Given the description of an element on the screen output the (x, y) to click on. 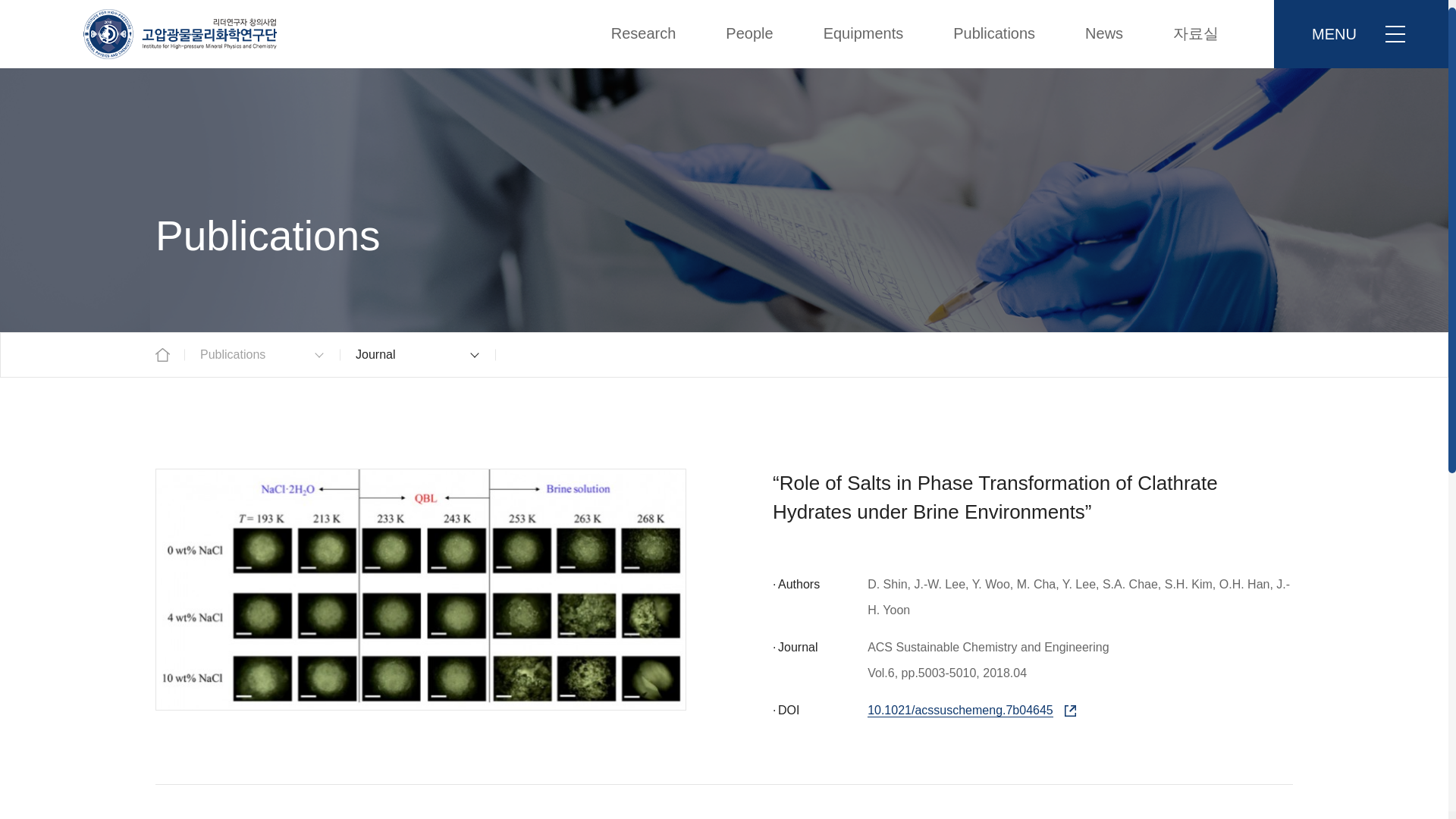
News (1103, 33)
Research (643, 33)
Equipments (862, 33)
Publications (993, 33)
People (748, 33)
